Given the description of an element on the screen output the (x, y) to click on. 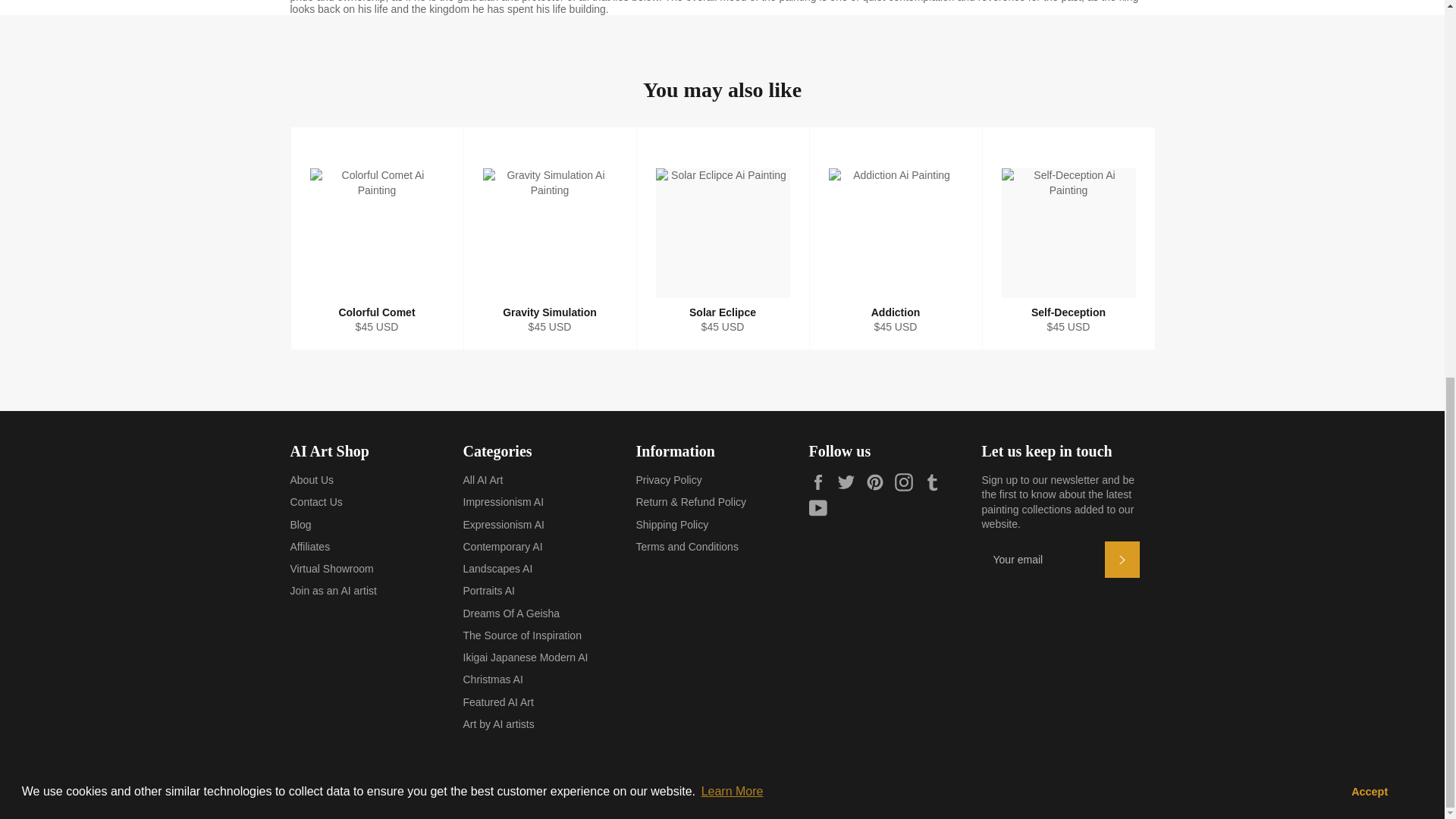
Accept (1369, 92)
Learn More (731, 92)
